Given the description of an element on the screen output the (x, y) to click on. 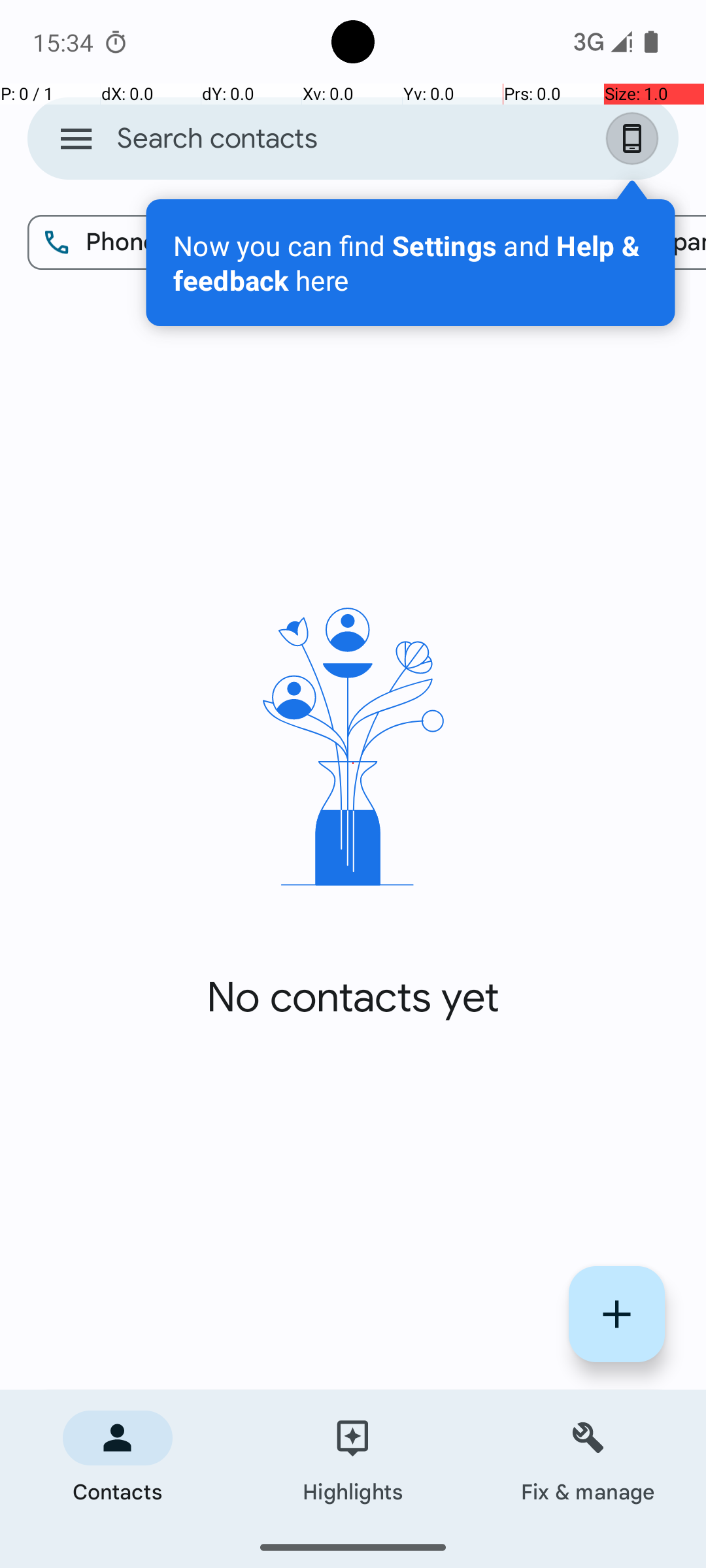
Now you can find Settings and Help & feedback here
Open account and settings. Element type: android.view.ViewGroup (409, 262)
